Given the description of an element on the screen output the (x, y) to click on. 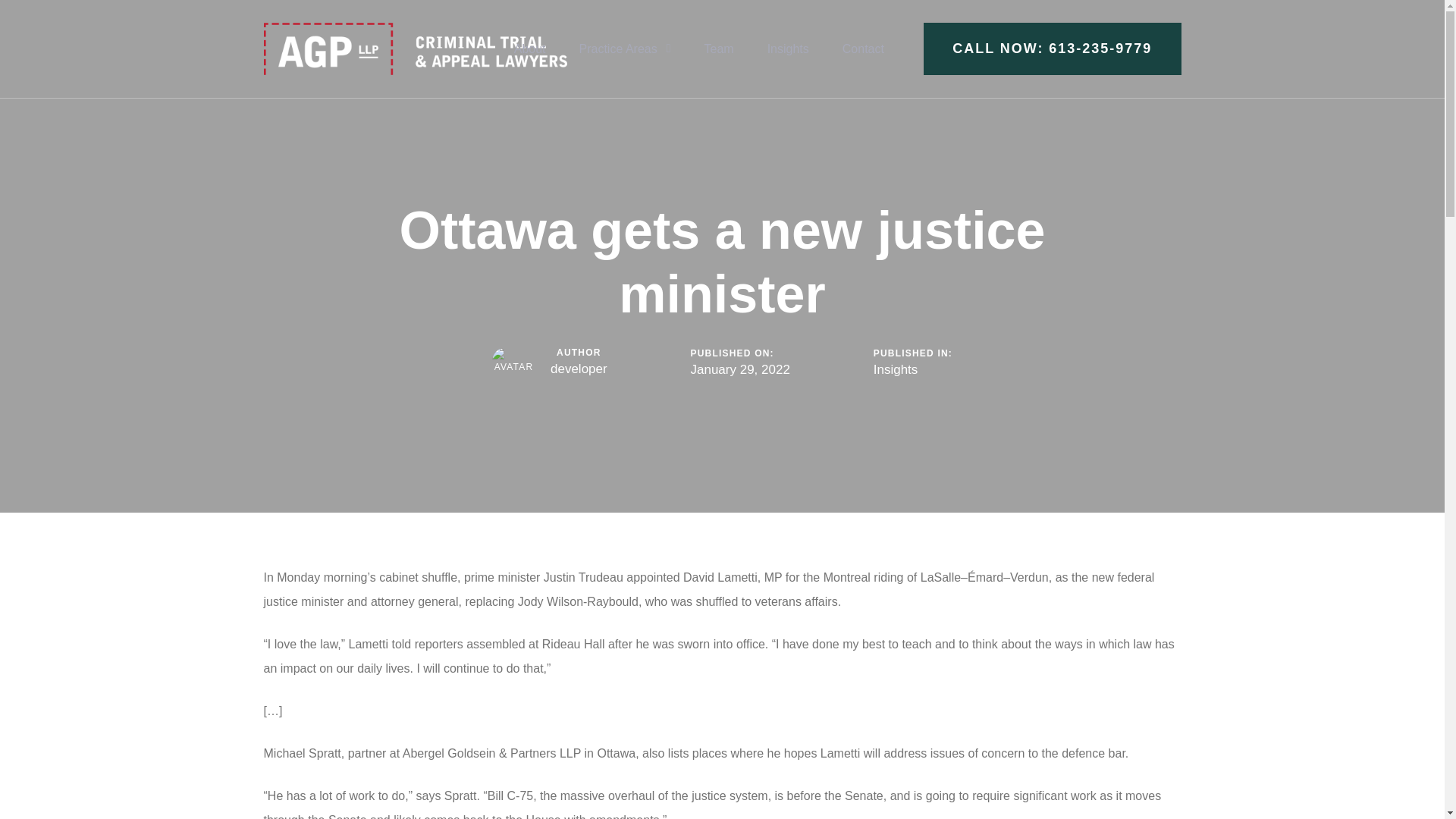
Team (719, 48)
developer (578, 368)
January 29, 2022 (739, 369)
Practice Areas (624, 48)
CALL NOW: 613-235-9779 (1051, 48)
Insights (788, 48)
Insights (895, 369)
Contact (863, 48)
Posts by developer (578, 368)
About (529, 48)
